Given the description of an element on the screen output the (x, y) to click on. 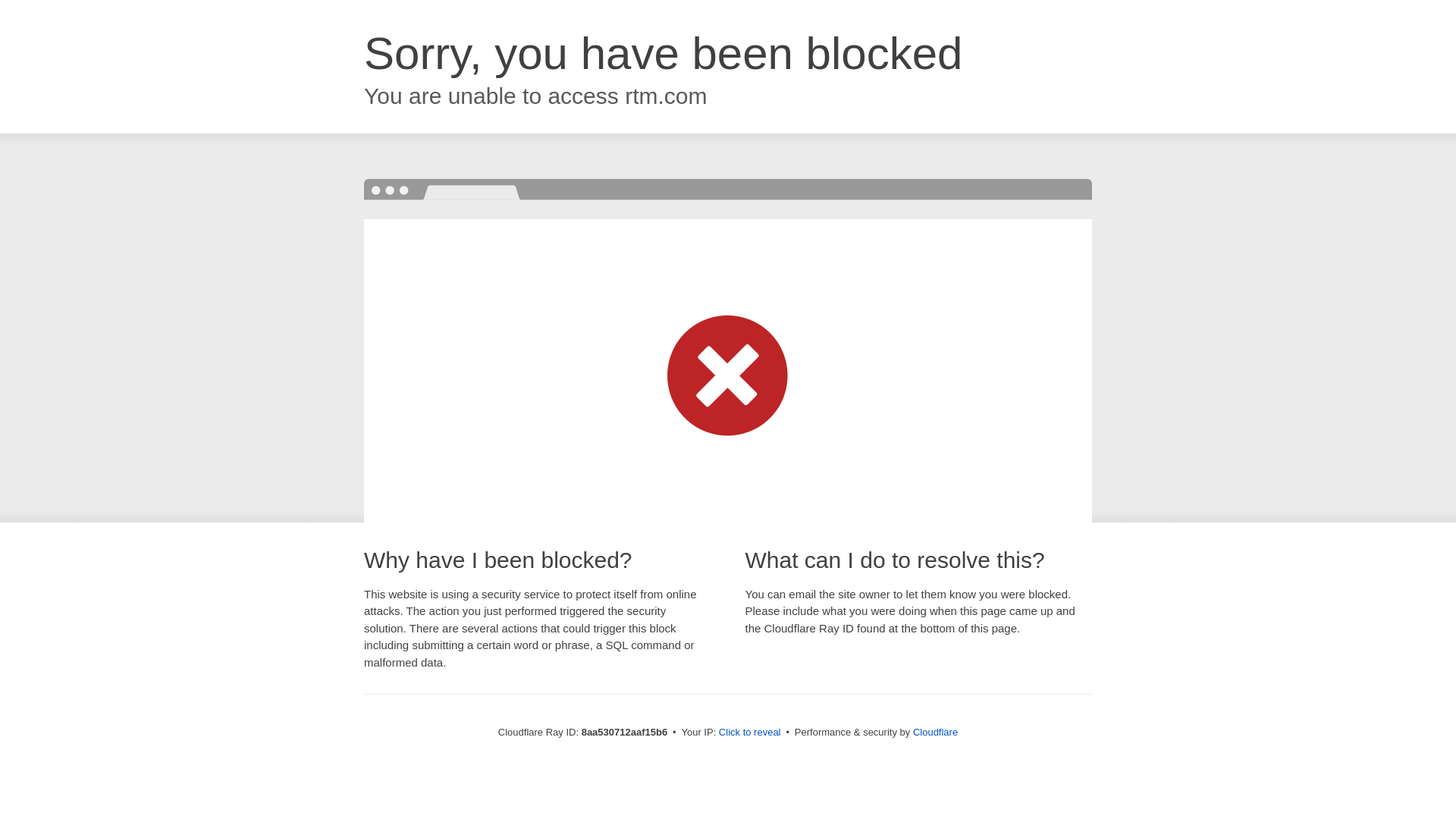
Click to reveal (749, 732)
Cloudflare (935, 731)
